Given the description of an element on the screen output the (x, y) to click on. 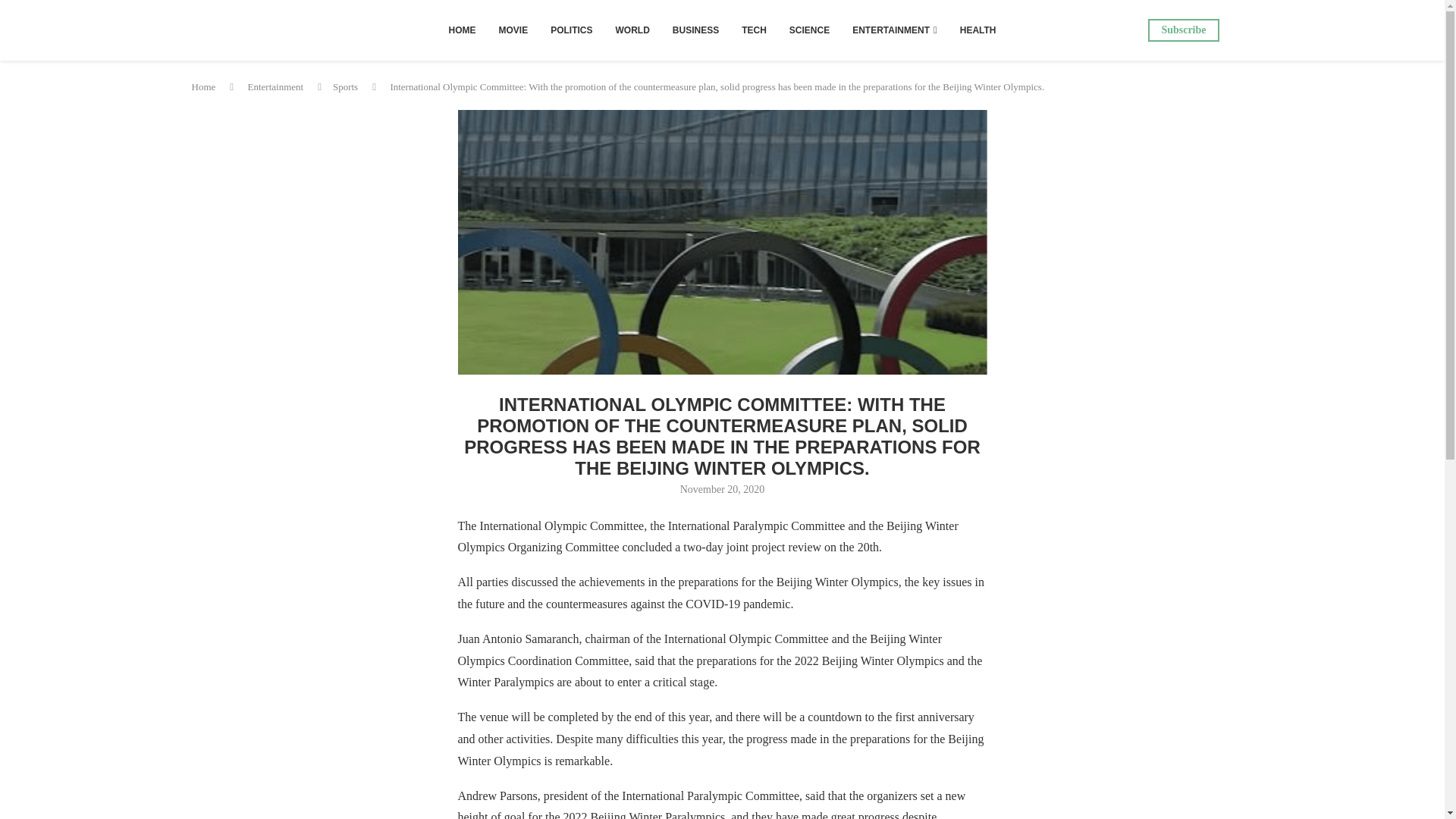
TECH (753, 30)
MOVIE (512, 30)
ENTERTAINMENT (895, 30)
HEALTH (978, 30)
WORLD (632, 30)
HOME (461, 30)
Subscribe (1183, 29)
SCIENCE (809, 30)
BUSINESS (695, 30)
POLITICS (571, 30)
